Given the description of an element on the screen output the (x, y) to click on. 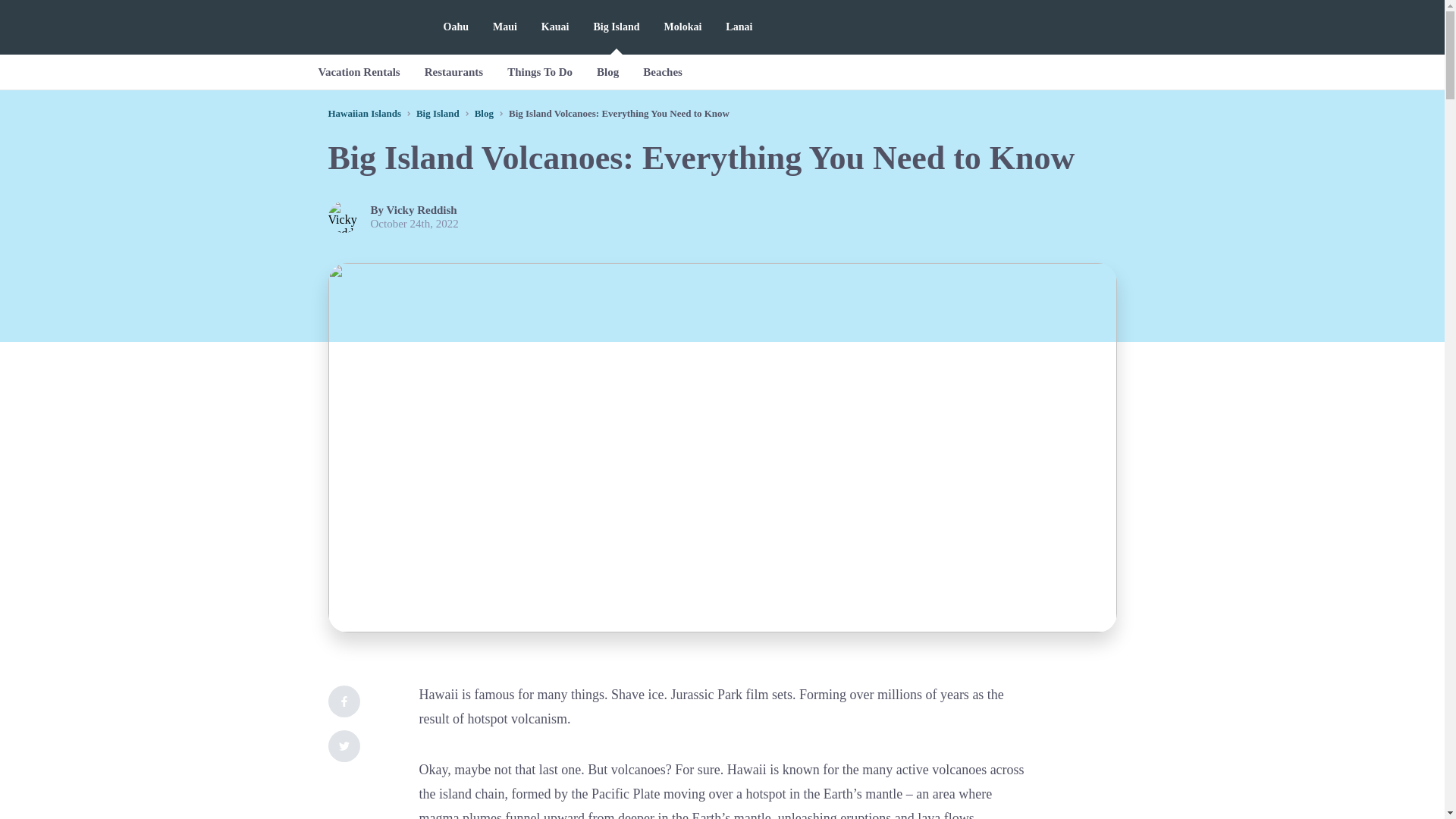
Blog (607, 71)
Blog (483, 112)
Vacation Rentals (358, 71)
Big Island (438, 112)
Beaches (662, 71)
Things To Do (540, 71)
Restaurants (454, 71)
Vicky Reddish (422, 209)
Hawaiian Islands (363, 112)
